Given the description of an element on the screen output the (x, y) to click on. 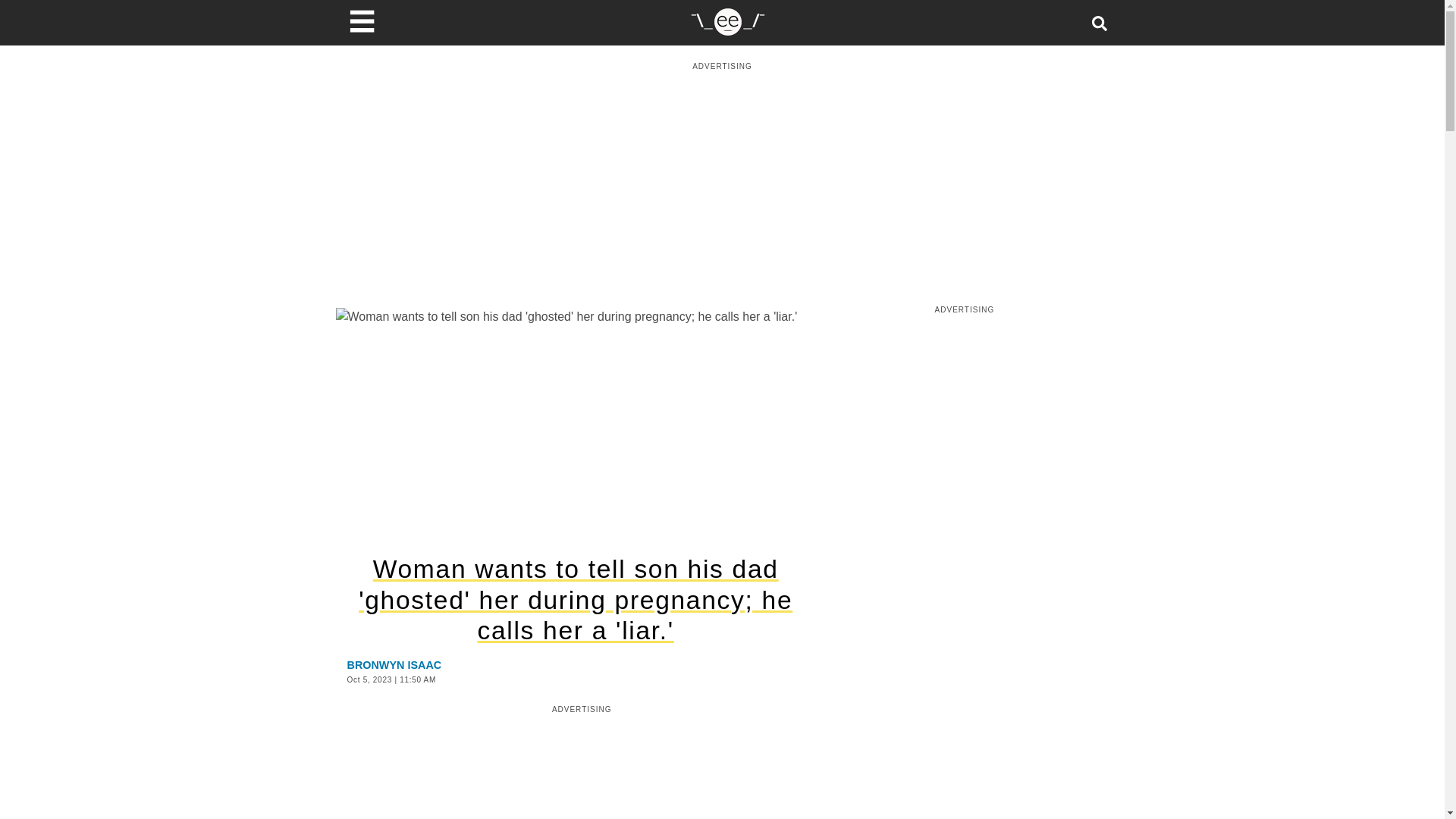
BRONWYN ISAAC (394, 664)
